Given the description of an element on the screen output the (x, y) to click on. 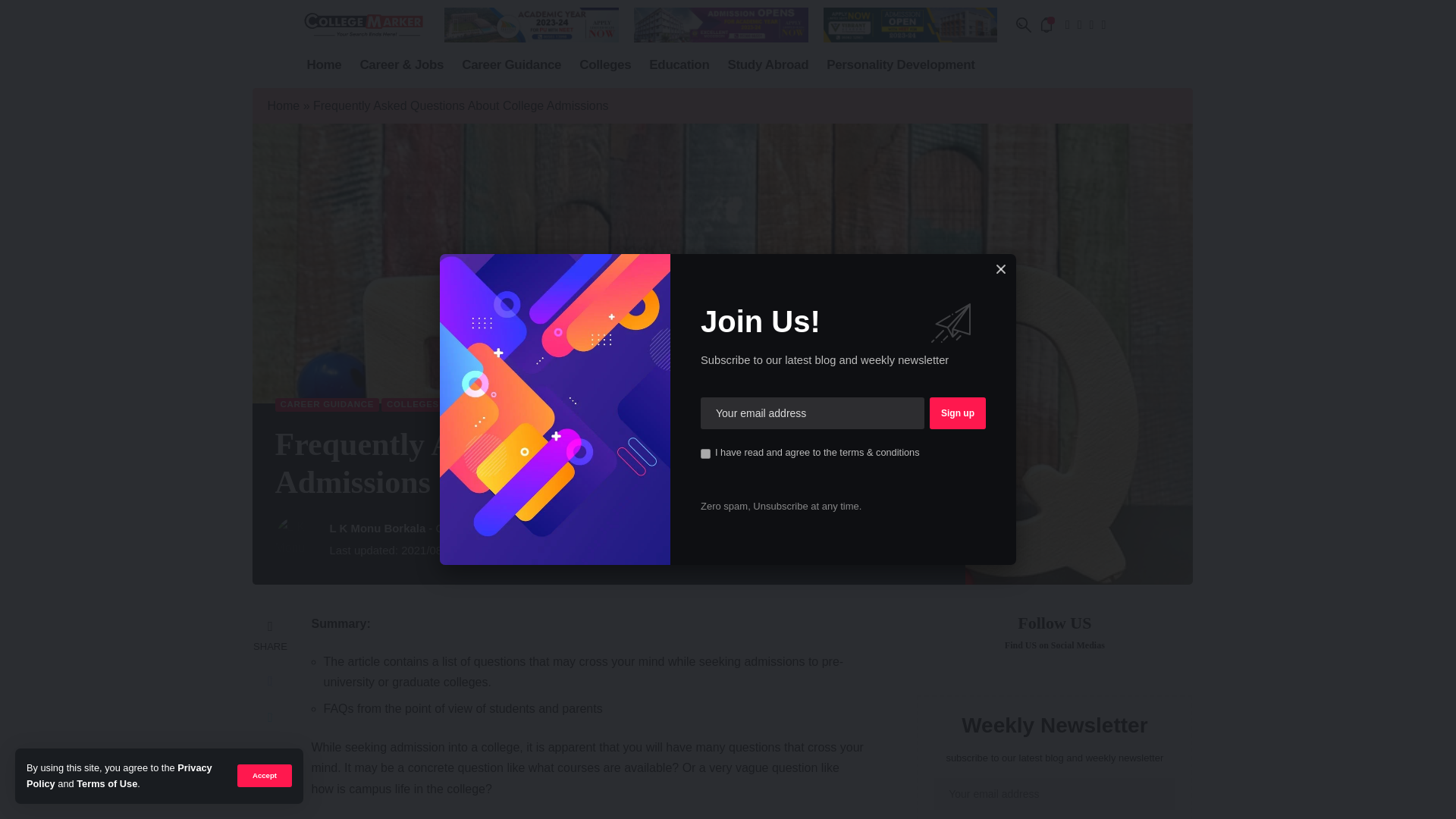
Career Guidance (511, 64)
Home (323, 64)
Privacy Policy (119, 775)
Study Abroad (766, 64)
Sign up (957, 413)
Accept (264, 775)
Sign up (957, 413)
Personality Development (900, 64)
Education (678, 64)
Terms of Use (106, 783)
Colleges (605, 64)
